Given the description of an element on the screen output the (x, y) to click on. 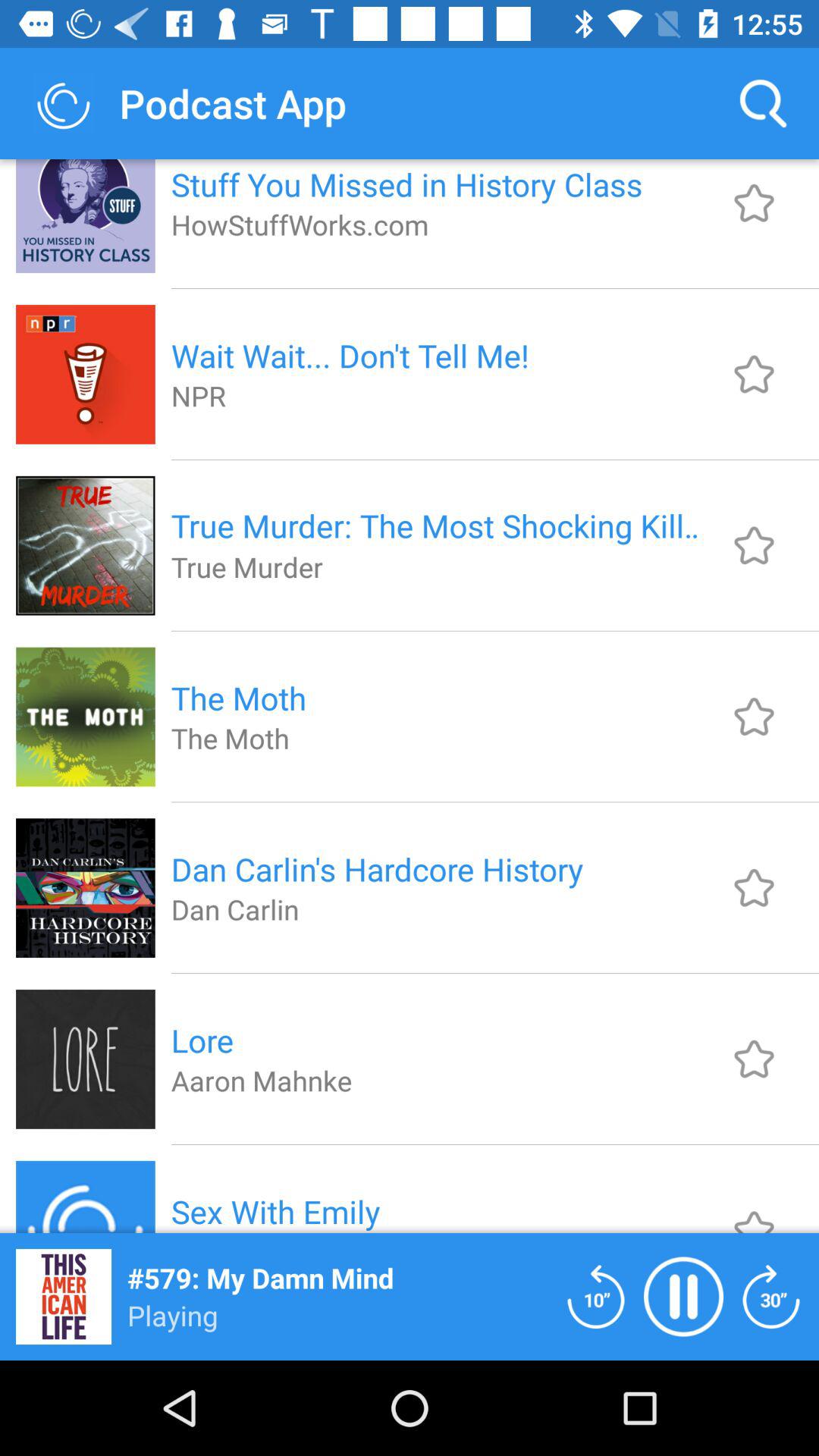
fast forward 30 seconds (771, 1296)
